Given the description of an element on the screen output the (x, y) to click on. 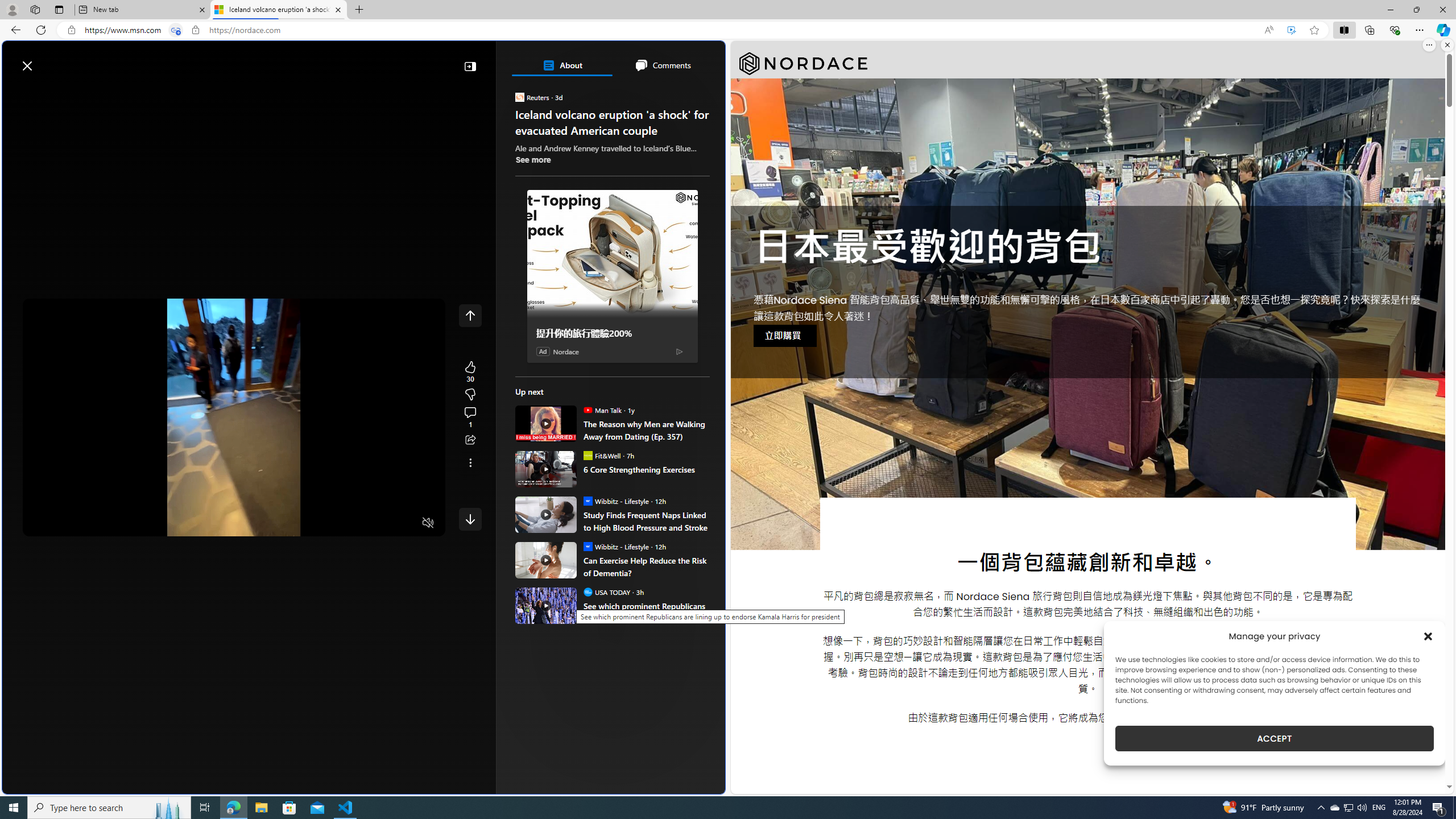
Seek Back (62, 523)
The Associated Press (554, 366)
Comments (662, 64)
Love dogs? We do, too. (616, 163)
